Given the description of an element on the screen output the (x, y) to click on. 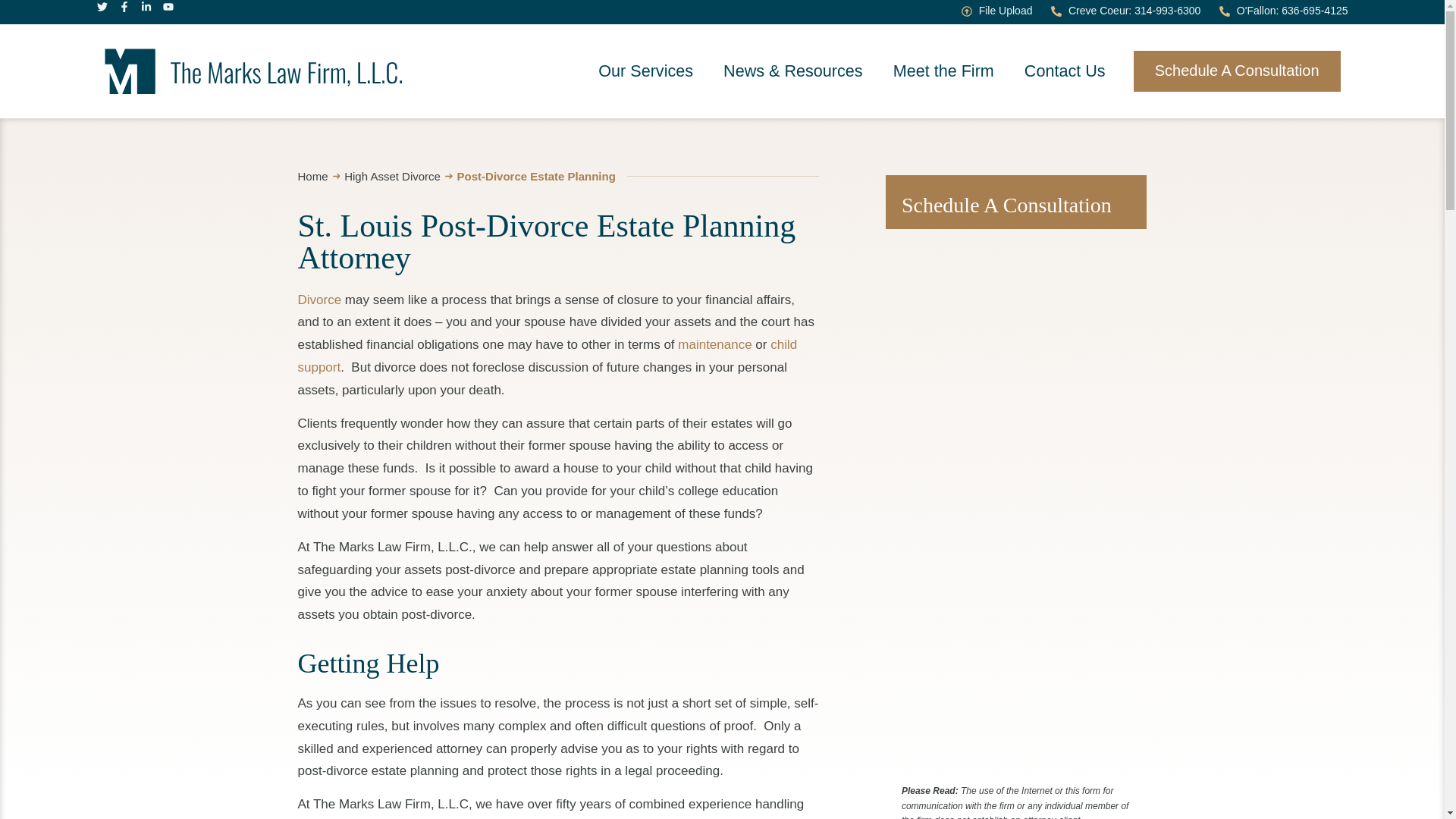
Back to the homepage (253, 71)
O'Fallon: 636-695-4125 (1284, 11)
Creve Coeur: 314-993-6300 (1125, 11)
File Upload (996, 11)
Our Services (645, 71)
